Given the description of an element on the screen output the (x, y) to click on. 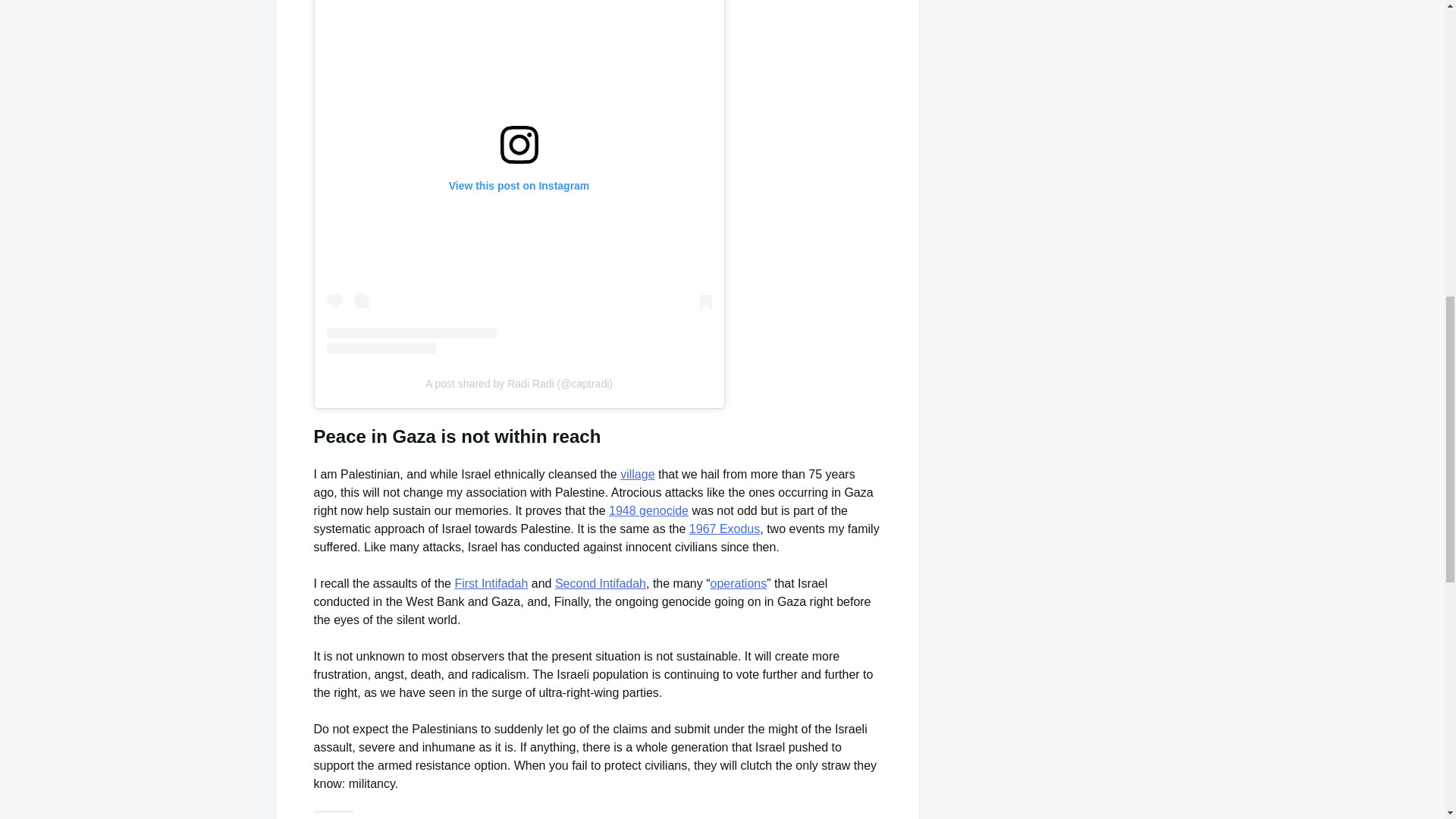
Second Intifadah (600, 583)
First Intifadah (490, 583)
1948 genocide (648, 510)
1967 Exodus (724, 528)
operations (738, 583)
village (636, 473)
